Given the description of an element on the screen output the (x, y) to click on. 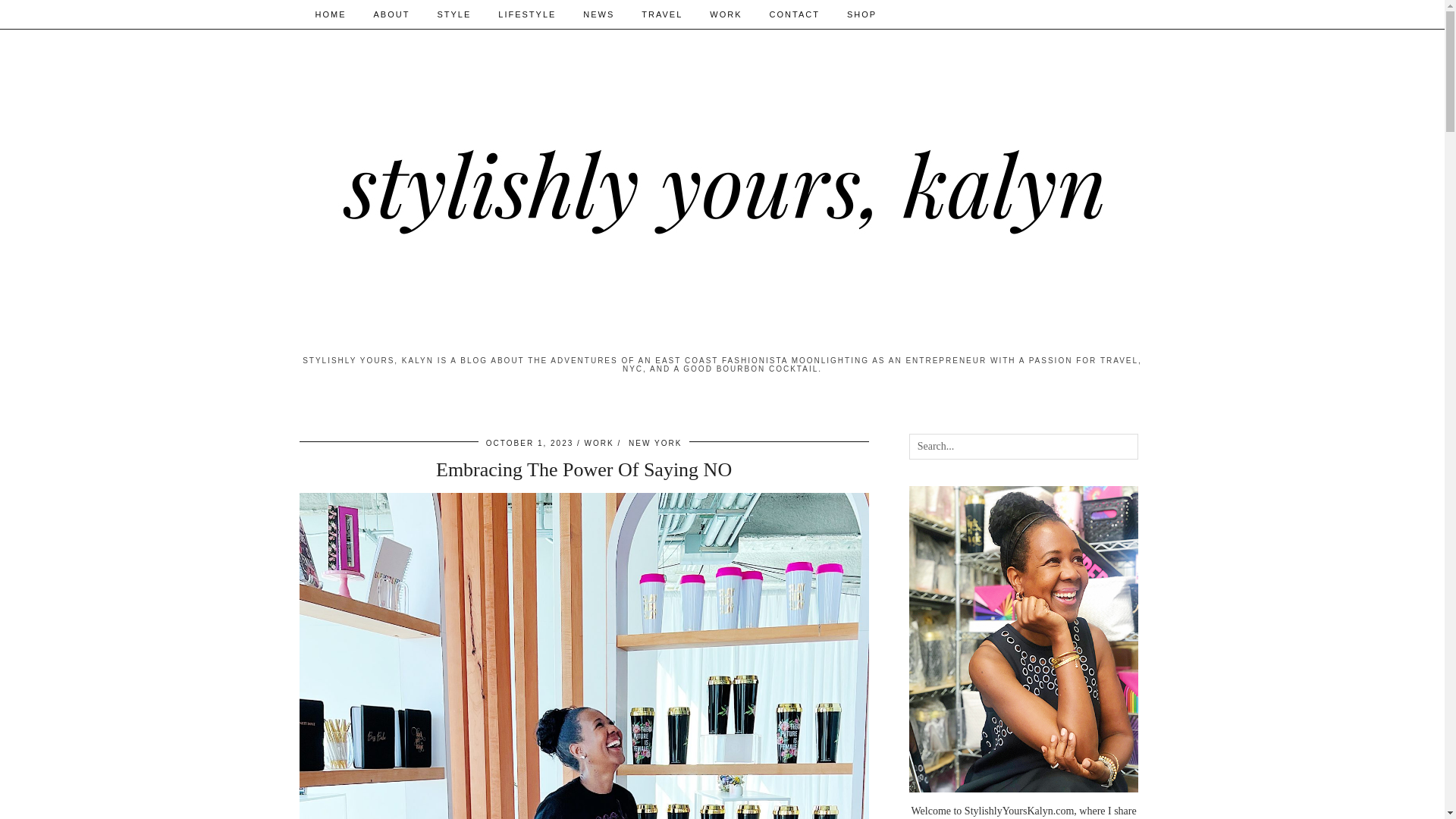
NEWS (598, 14)
TRAVEL (661, 14)
LIFESTYLE (526, 14)
CONTACT (793, 14)
STYLE (453, 14)
ABOUT (391, 14)
WORK (725, 14)
WORK (599, 442)
HOME (330, 14)
SHOP (860, 14)
